Given the description of an element on the screen output the (x, y) to click on. 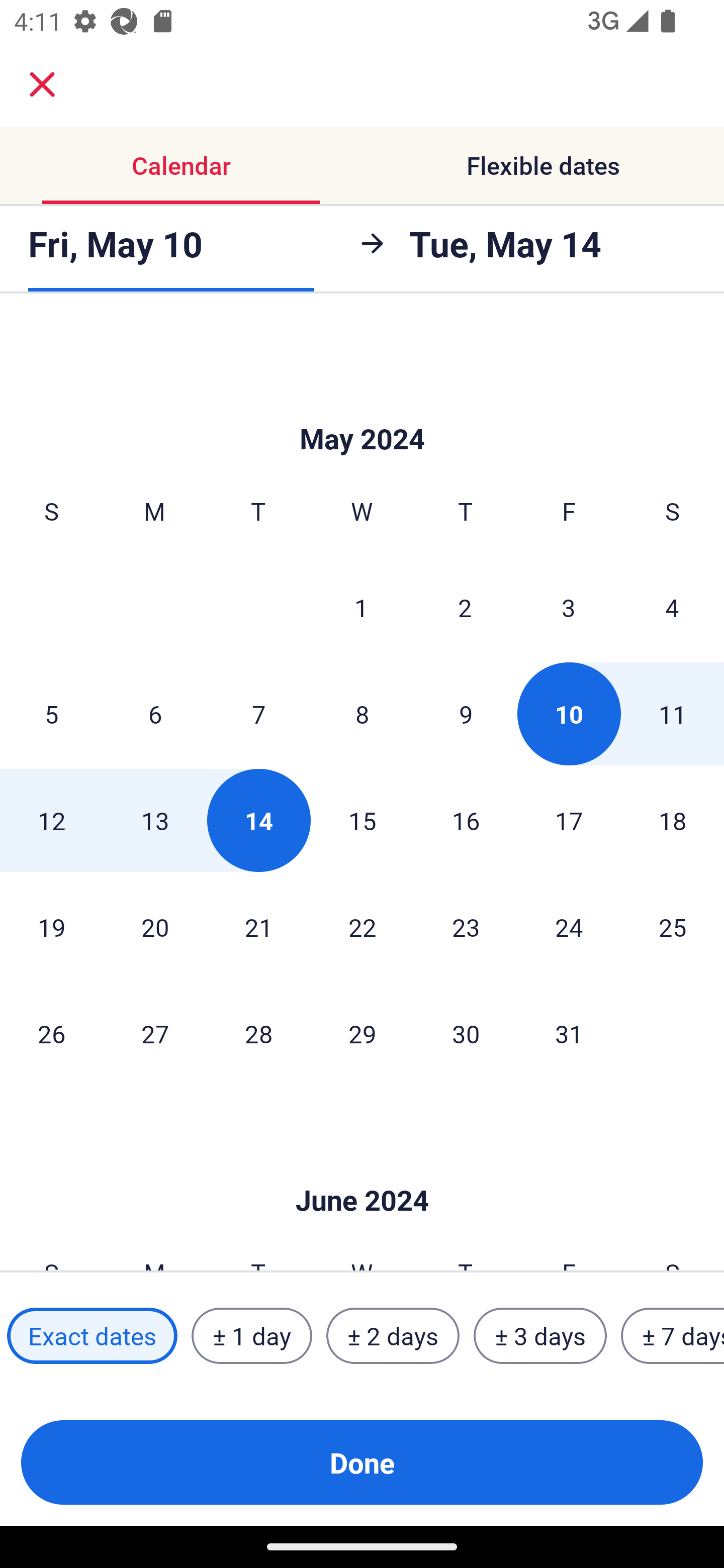
close. (42, 84)
Flexible dates (542, 164)
Skip to Done (362, 408)
1 Wednesday, May 1, 2024 (361, 606)
2 Thursday, May 2, 2024 (464, 606)
3 Friday, May 3, 2024 (568, 606)
4 Saturday, May 4, 2024 (672, 606)
5 Sunday, May 5, 2024 (51, 713)
6 Monday, May 6, 2024 (155, 713)
7 Tuesday, May 7, 2024 (258, 713)
8 Wednesday, May 8, 2024 (362, 713)
9 Thursday, May 9, 2024 (465, 713)
15 Wednesday, May 15, 2024 (362, 819)
16 Thursday, May 16, 2024 (465, 819)
17 Friday, May 17, 2024 (569, 819)
18 Saturday, May 18, 2024 (672, 819)
19 Sunday, May 19, 2024 (51, 926)
20 Monday, May 20, 2024 (155, 926)
21 Tuesday, May 21, 2024 (258, 926)
22 Wednesday, May 22, 2024 (362, 926)
23 Thursday, May 23, 2024 (465, 926)
24 Friday, May 24, 2024 (569, 926)
25 Saturday, May 25, 2024 (672, 926)
26 Sunday, May 26, 2024 (51, 1033)
27 Monday, May 27, 2024 (155, 1033)
28 Tuesday, May 28, 2024 (258, 1033)
29 Wednesday, May 29, 2024 (362, 1033)
30 Thursday, May 30, 2024 (465, 1033)
31 Friday, May 31, 2024 (569, 1033)
Skip to Done (362, 1170)
Exact dates (92, 1335)
± 1 day (251, 1335)
± 2 days (392, 1335)
± 3 days (539, 1335)
± 7 days (672, 1335)
Done (361, 1462)
